Given the description of an element on the screen output the (x, y) to click on. 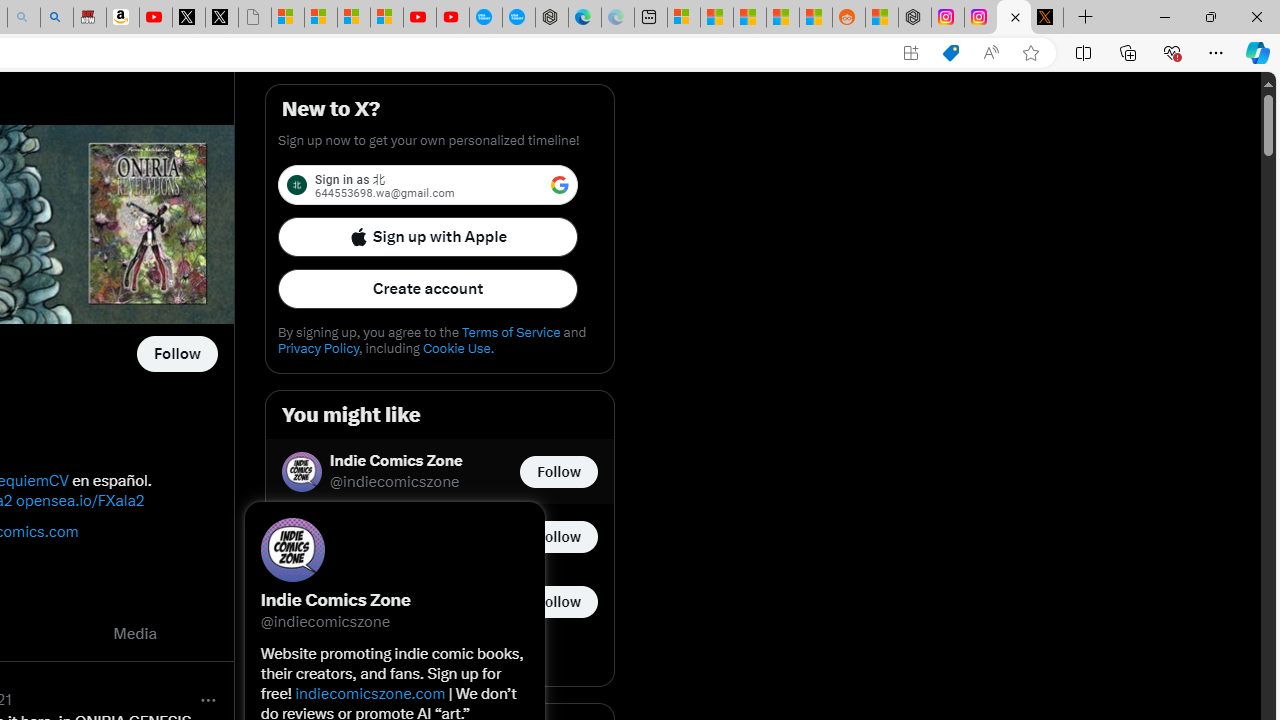
@indiecomicszone (394, 482)
Amazon Echo Dot PNG - Search Images (56, 17)
Create account (427, 288)
Shanghai, China Weather trends | Microsoft Weather (815, 17)
